Given the description of an element on the screen output the (x, y) to click on. 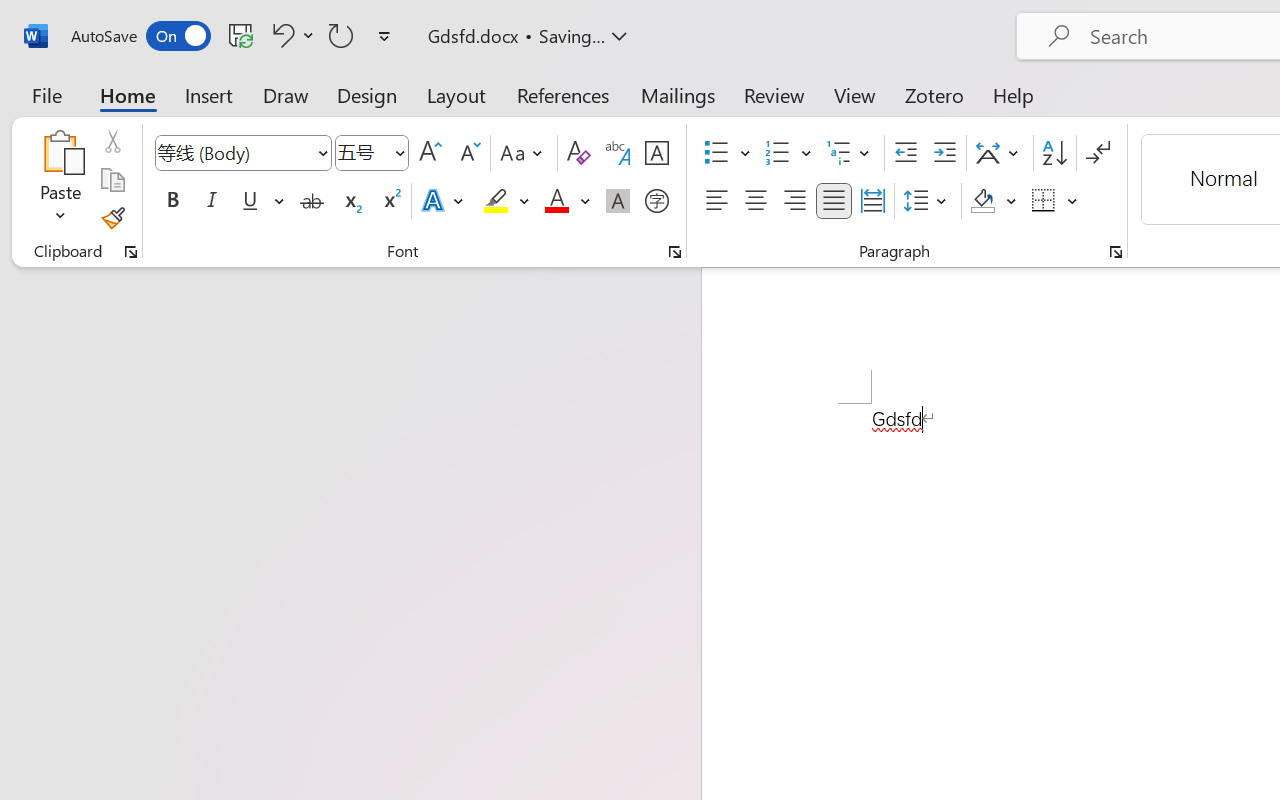
Italic (212, 201)
Phonetic Guide... (618, 153)
Grow Font (430, 153)
Font Color Red (556, 201)
Subscript (350, 201)
Bold (172, 201)
Copy (112, 179)
Shading (993, 201)
Repeat Style (341, 35)
Character Border (656, 153)
